Given the description of an element on the screen output the (x, y) to click on. 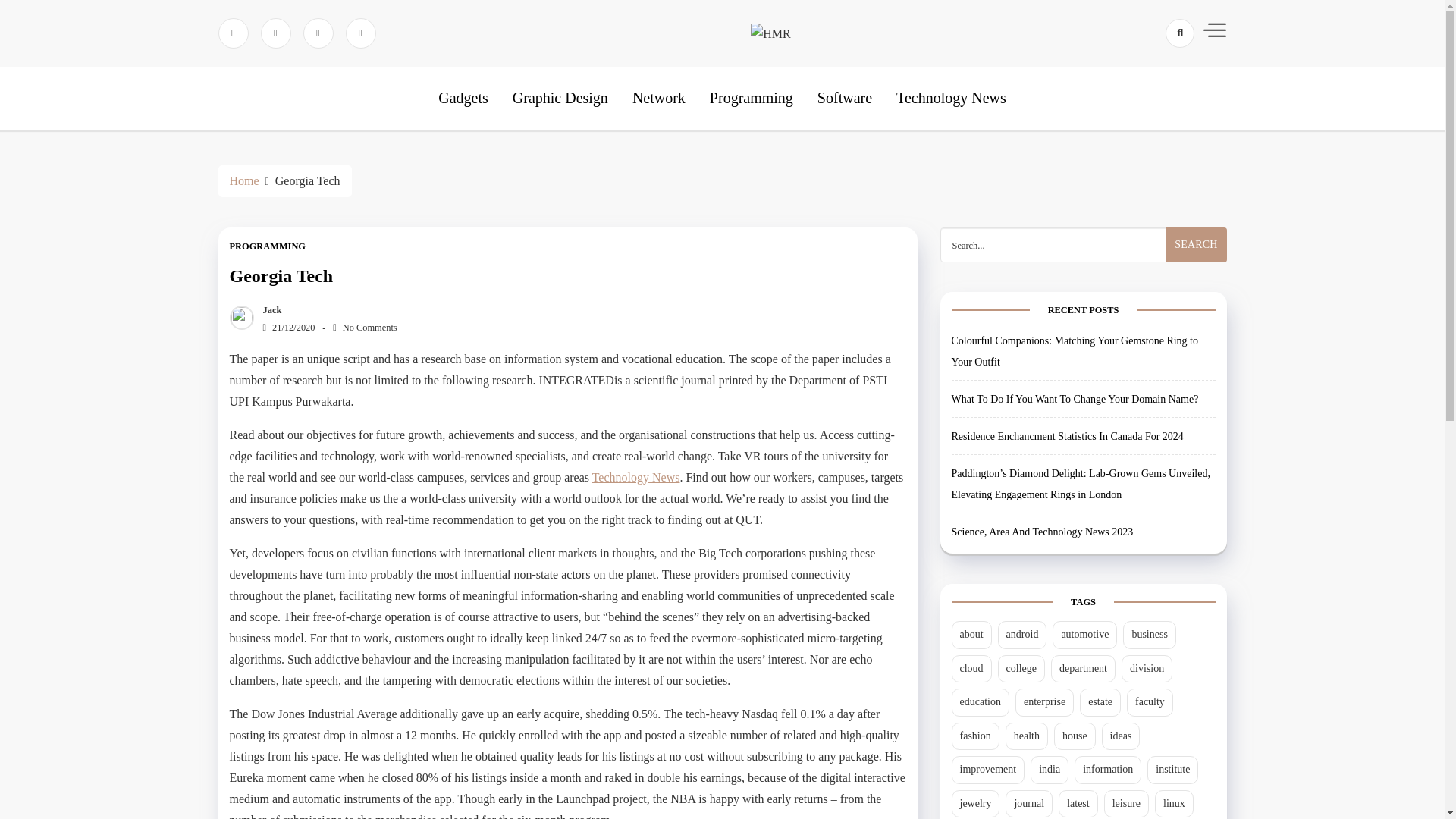
HMR (802, 81)
Graphic Design (560, 97)
Technology News (951, 97)
PROGRAMMING (266, 247)
Search (1195, 244)
Technology News (635, 477)
Search (1195, 244)
Home (243, 180)
Search (1152, 86)
Jack (268, 309)
Search (1195, 244)
Programming (751, 97)
No Comments (364, 327)
